Given the description of an element on the screen output the (x, y) to click on. 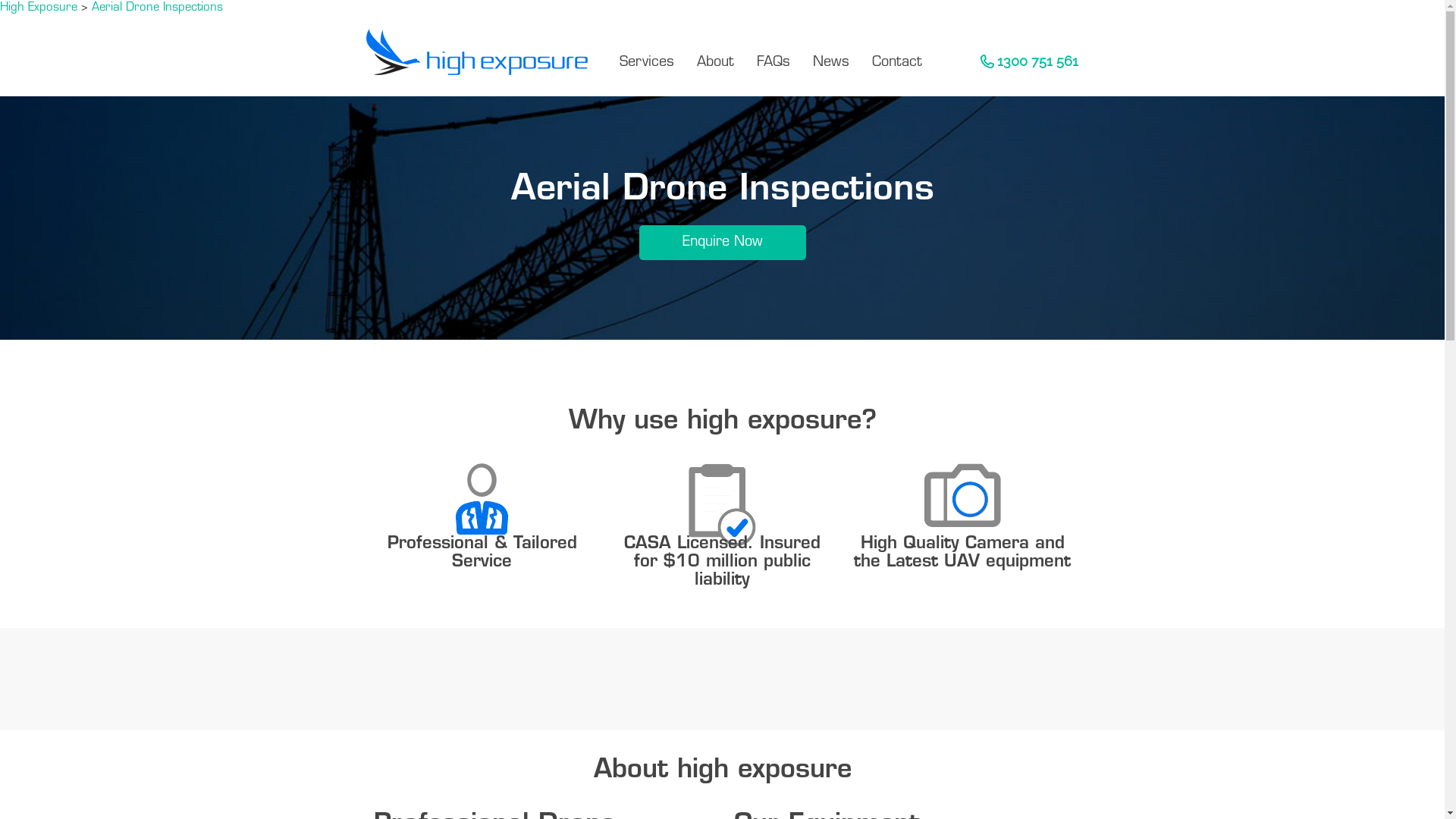
Services Element type: text (646, 62)
News Element type: text (830, 62)
Aerial Drone Inspections Element type: text (156, 7)
FAQs Element type: text (773, 62)
High Exposure Element type: text (38, 7)
Enquire Now Element type: text (721, 242)
About Element type: text (715, 62)
Contact Element type: text (897, 62)
